Given the description of an element on the screen output the (x, y) to click on. 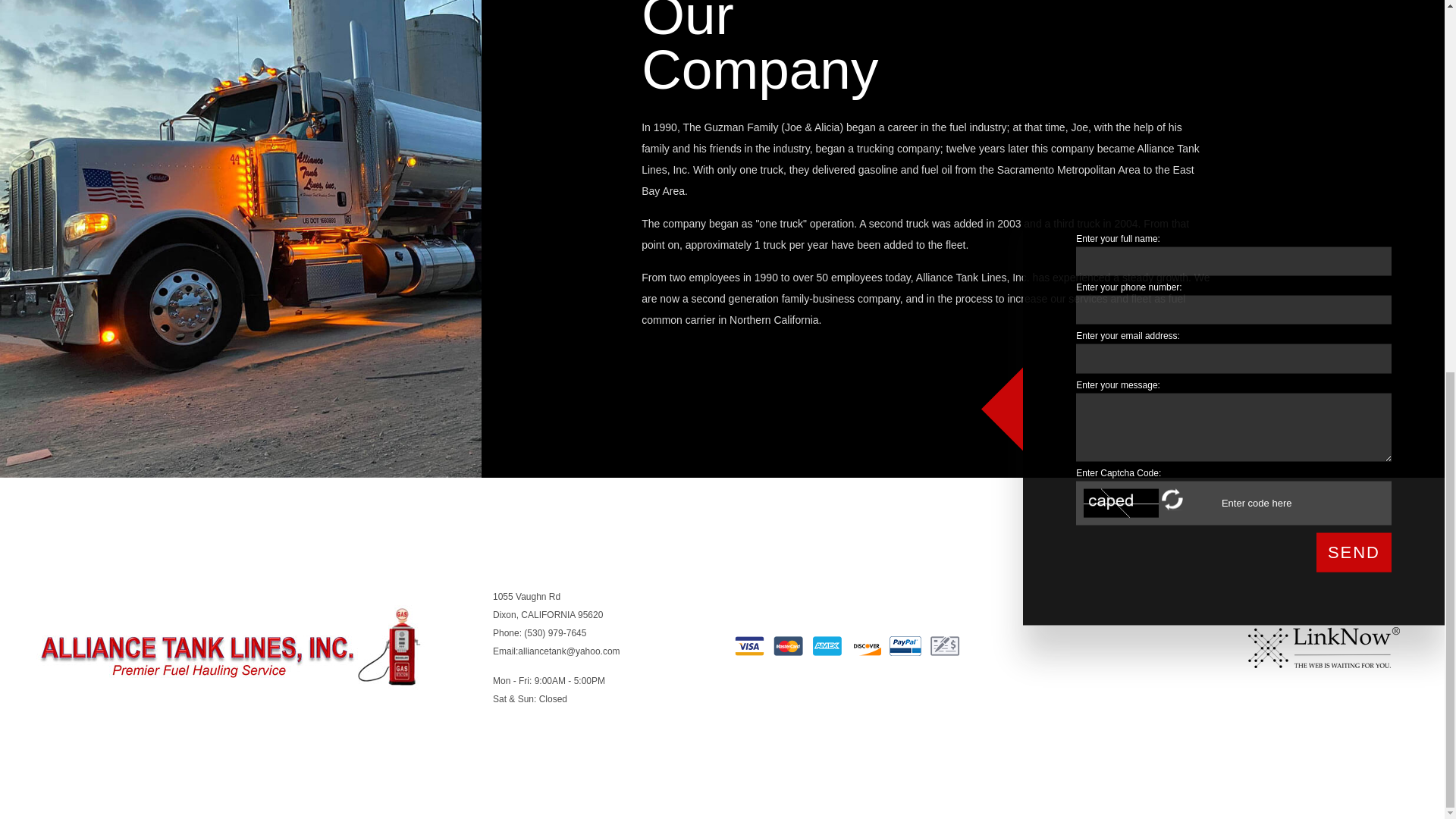
Alliance Tank Lines, Inc.'s Google Map (1149, 647)
Visa (749, 646)
Discover (866, 646)
Alliance Tank Lines, Inc.'s Facebook (1135, 647)
Mastercard (789, 646)
American Express (826, 646)
Check (944, 646)
PayPal (905, 646)
